Given the description of an element on the screen output the (x, y) to click on. 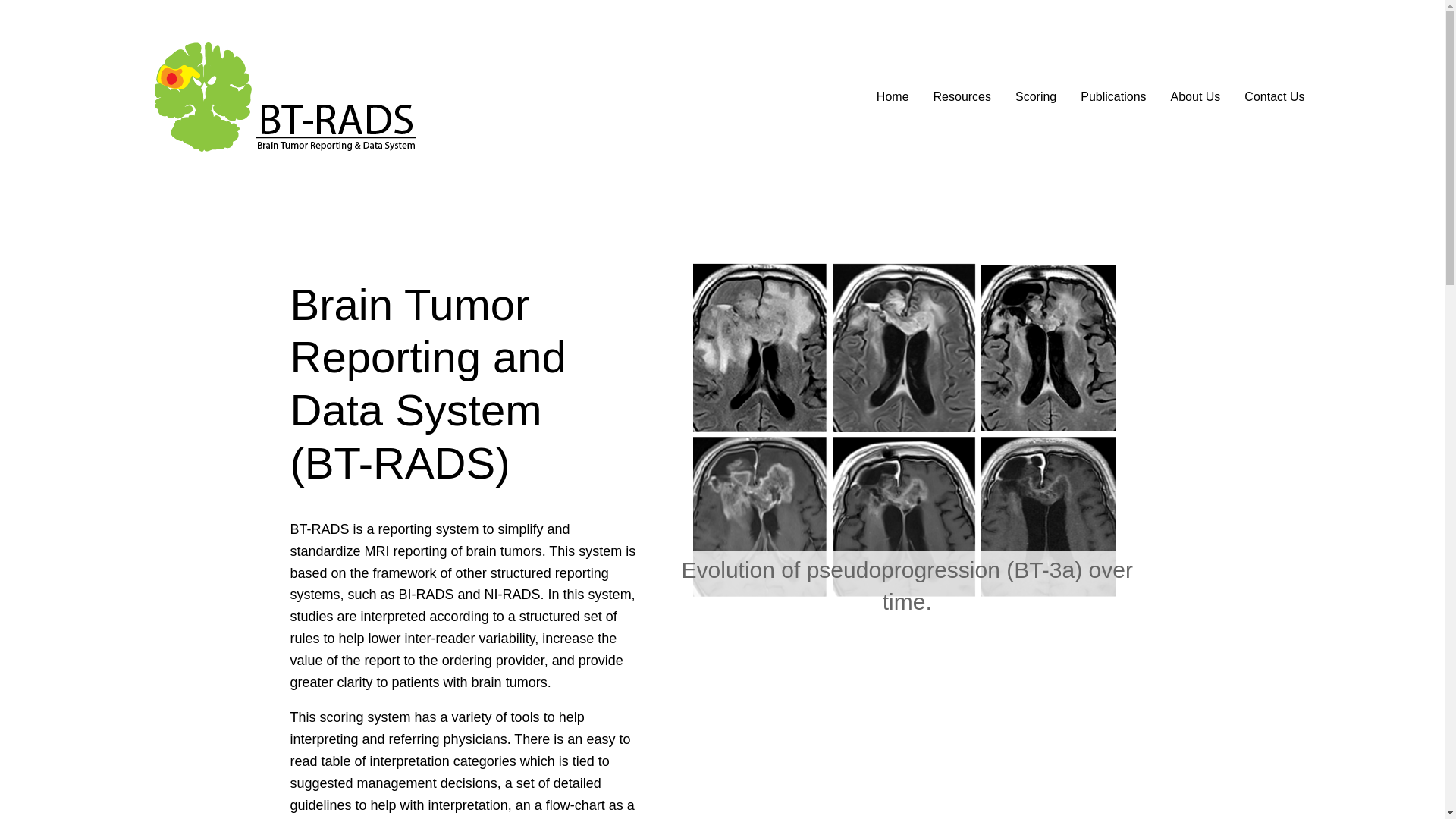
Scoring (1035, 96)
Contact Us (1274, 96)
About Us (1195, 96)
Resources (962, 96)
Publications (1112, 96)
Home (892, 96)
